Given the description of an element on the screen output the (x, y) to click on. 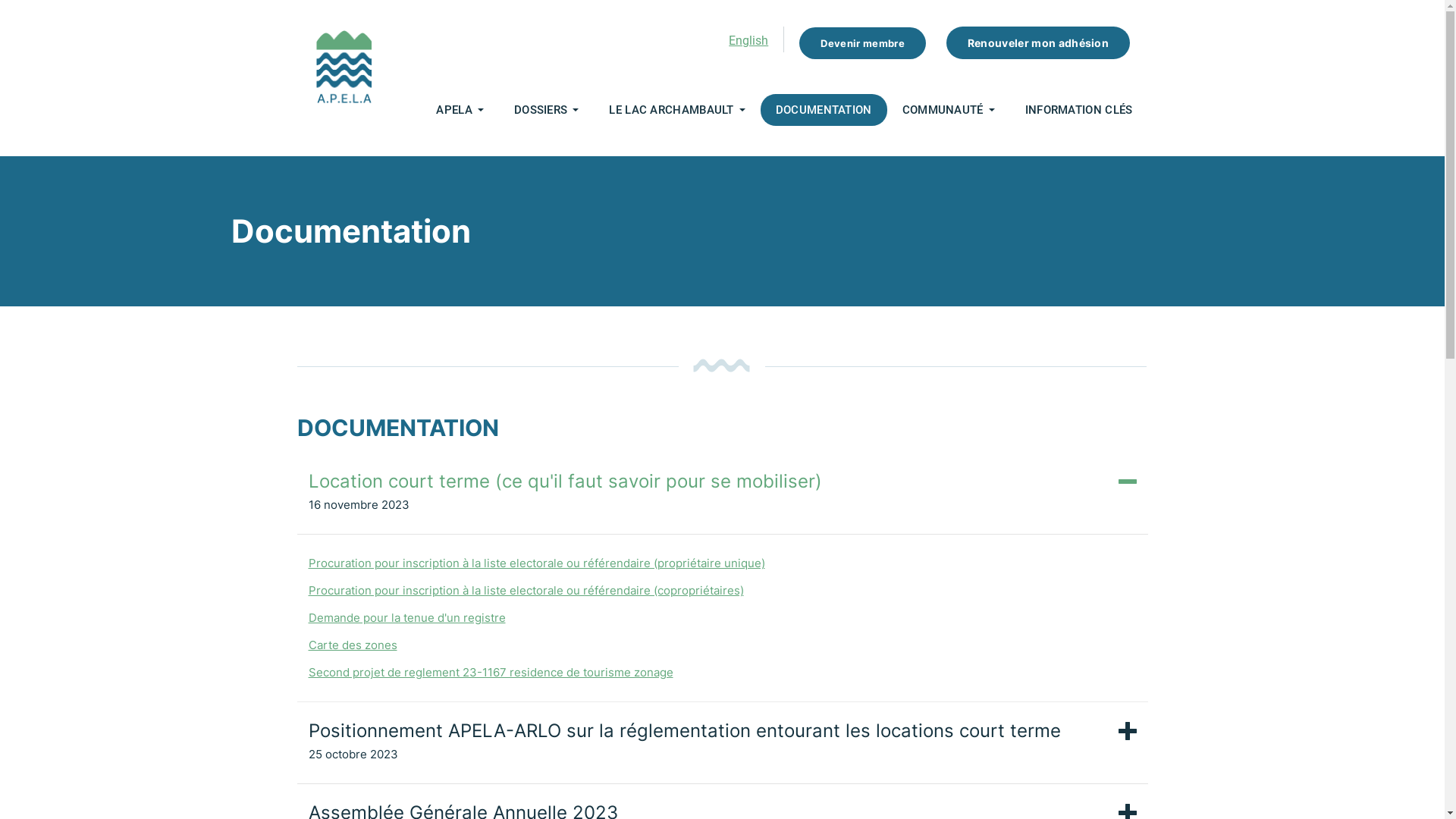
Carte des zones Element type: text (351, 644)
DOCUMENTATION Element type: text (823, 109)
Devenir membre Element type: text (862, 43)
LE LAC ARCHAMBAULT Element type: text (670, 109)
Demande pour la tenue d'un registre Element type: text (406, 617)
English Element type: text (748, 40)
DOSSIERS Element type: text (540, 109)
APELA Element type: text (453, 109)
